Given the description of an element on the screen output the (x, y) to click on. 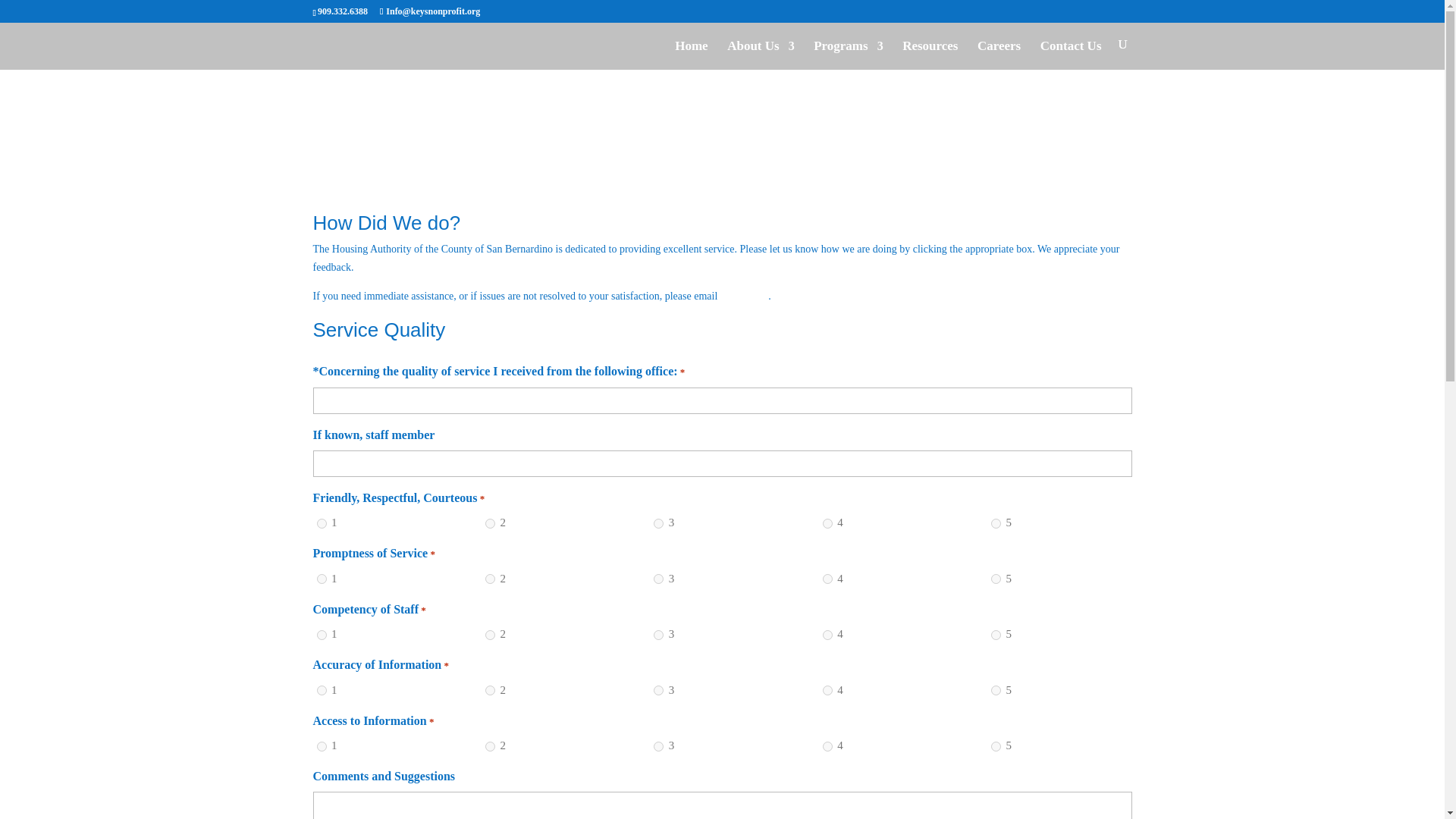
4 (827, 523)
5 (996, 523)
Careers (998, 53)
Home (691, 53)
3 (658, 523)
3 (658, 634)
1 (321, 578)
Email Ana Gamiz (743, 296)
5 (996, 578)
2 (489, 523)
